Given the description of an element on the screen output the (x, y) to click on. 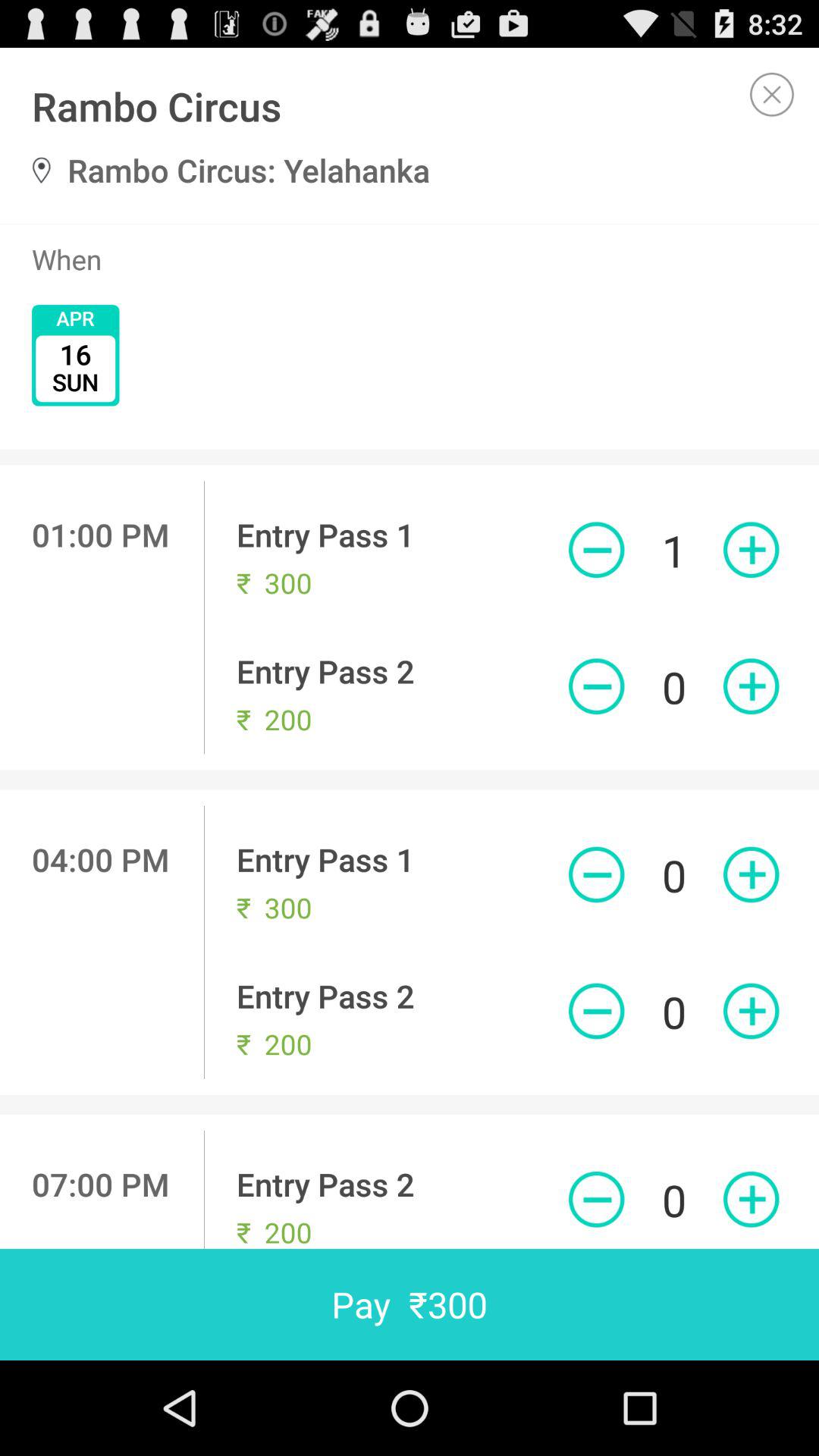
decrease ticket quantity (596, 549)
